Given the description of an element on the screen output the (x, y) to click on. 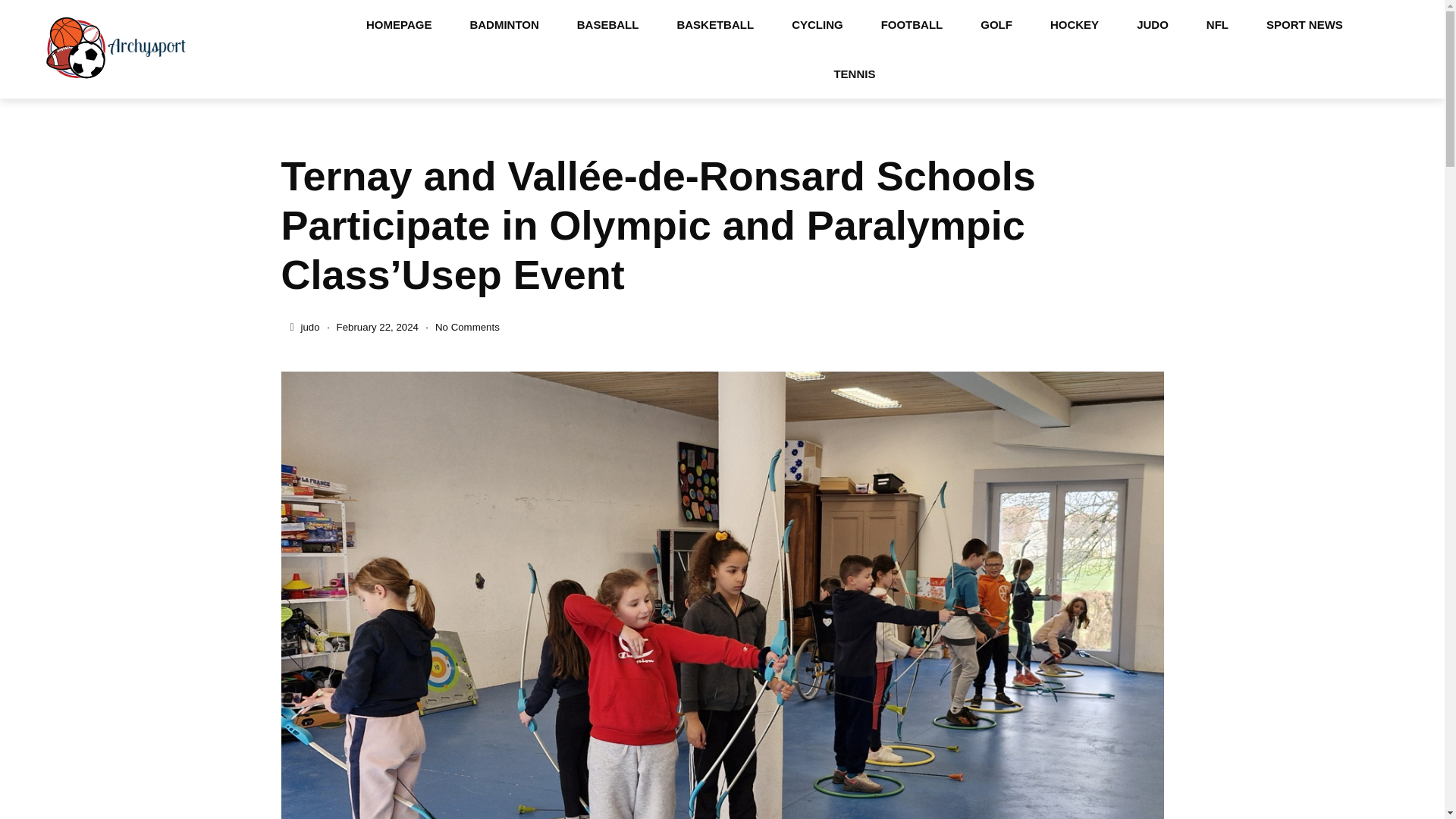
SPORT NEWS (1304, 24)
BADMINTON (503, 24)
BASKETBALL (715, 24)
NFL (1217, 24)
BASEBALL (607, 24)
JUDO (1153, 24)
FOOTBALL (911, 24)
HOCKEY (1074, 24)
CYCLING (817, 24)
GOLF (995, 24)
HOMEPAGE (398, 24)
TENNIS (853, 73)
